Given the description of an element on the screen output the (x, y) to click on. 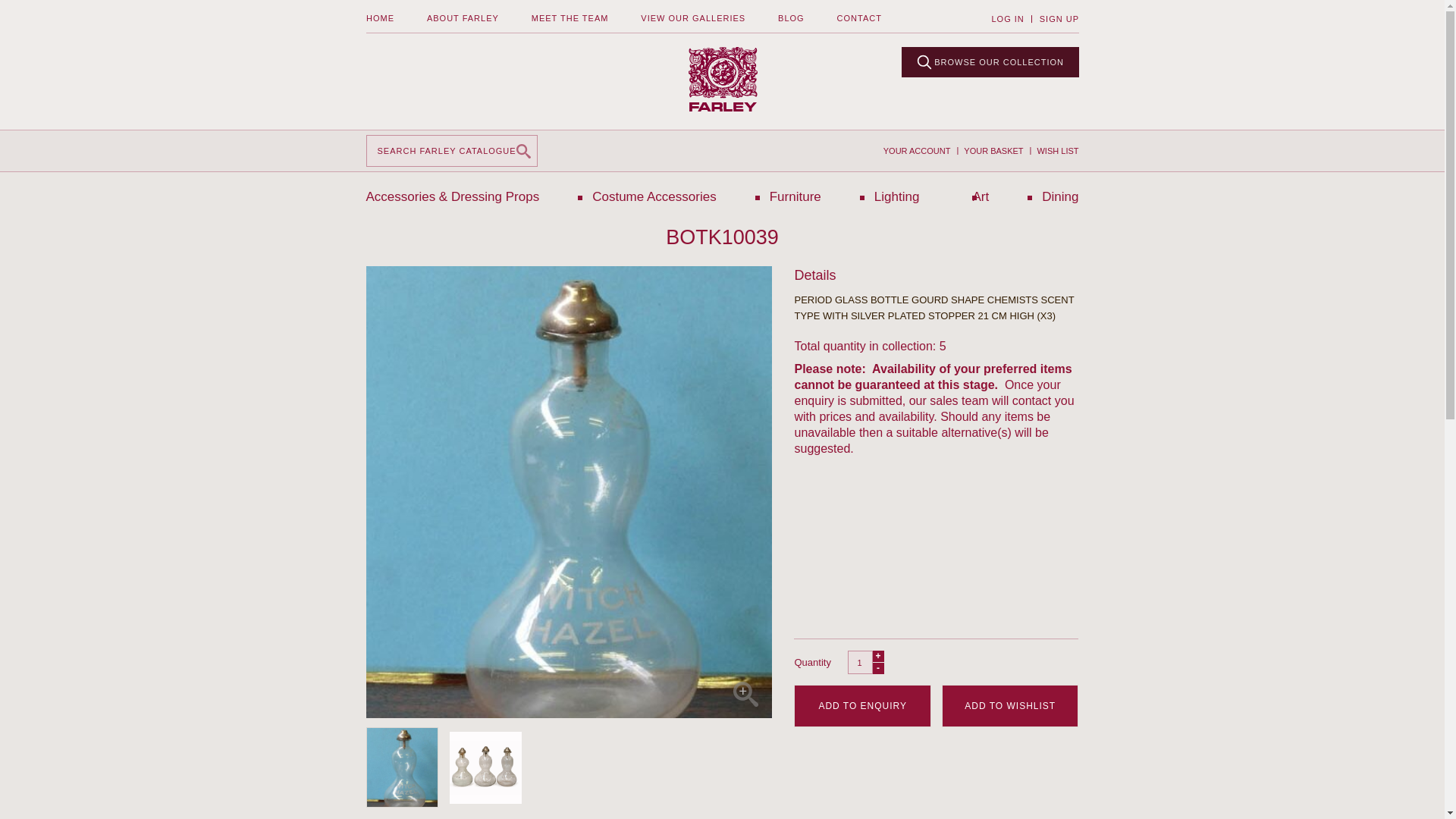
Lighting (897, 196)
ADD TO WISHLIST (1010, 705)
ADD TO ENQUIRY (862, 705)
Increase (877, 668)
Dining (1060, 196)
Decrease (877, 655)
VIEW OUR GALLERIES (692, 18)
CONTACT (857, 18)
Qty (859, 662)
ABOUT FARLEY (461, 18)
HOME (379, 18)
MEET THE TEAM (569, 18)
Enlarge (744, 693)
1 (859, 662)
YOUR ACCOUNT (916, 150)
